Given the description of an element on the screen output the (x, y) to click on. 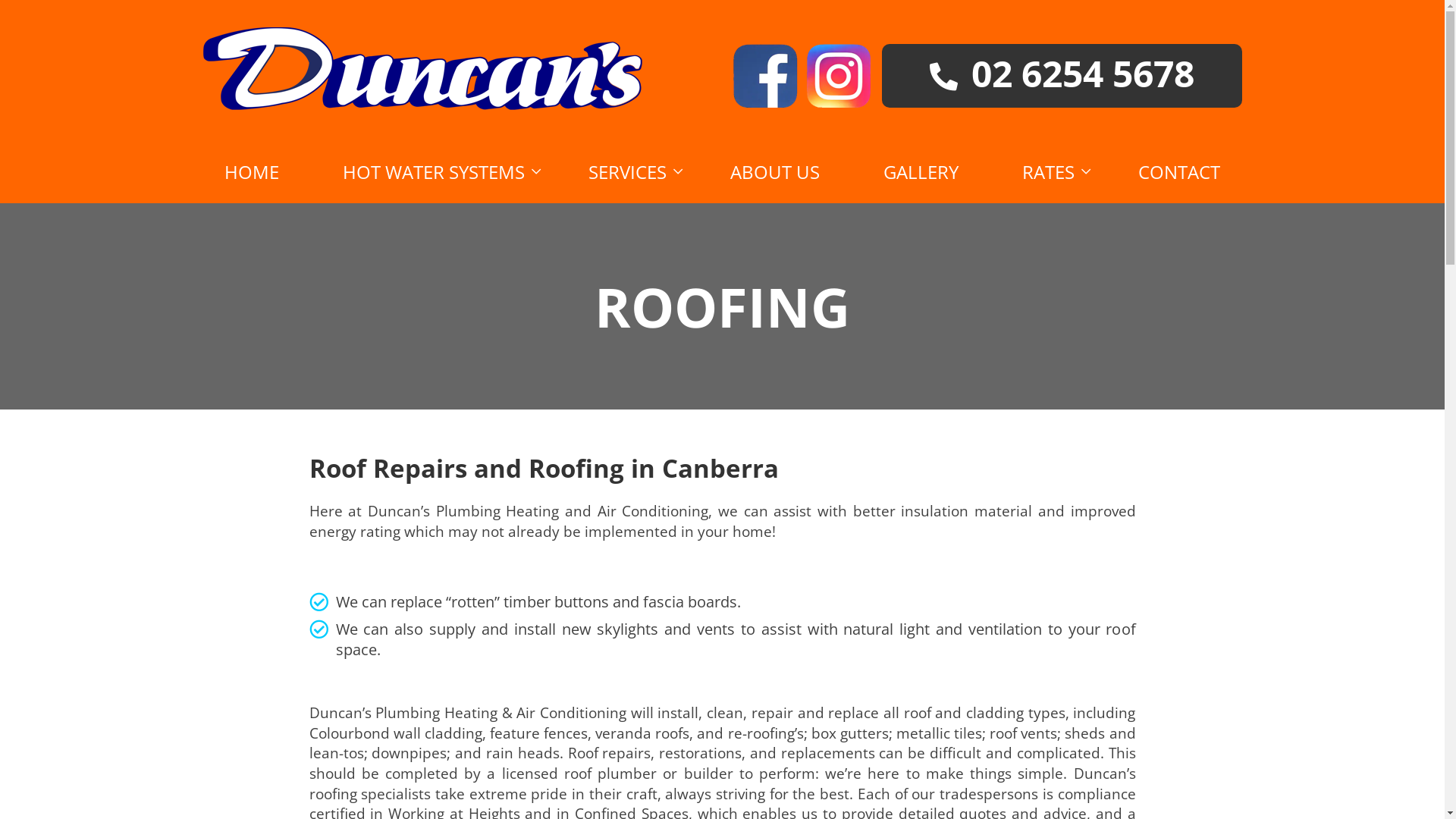
GALLERY Element type: text (920, 172)
CONTACT Element type: text (1179, 172)
RATES Element type: text (1048, 172)
SERVICES Element type: text (627, 172)
ABOUT US Element type: text (774, 172)
HOT WATER SYSTEMS Element type: text (433, 172)
HOME Element type: text (251, 172)
02 6254 5678 Element type: text (1061, 75)
